Given the description of an element on the screen output the (x, y) to click on. 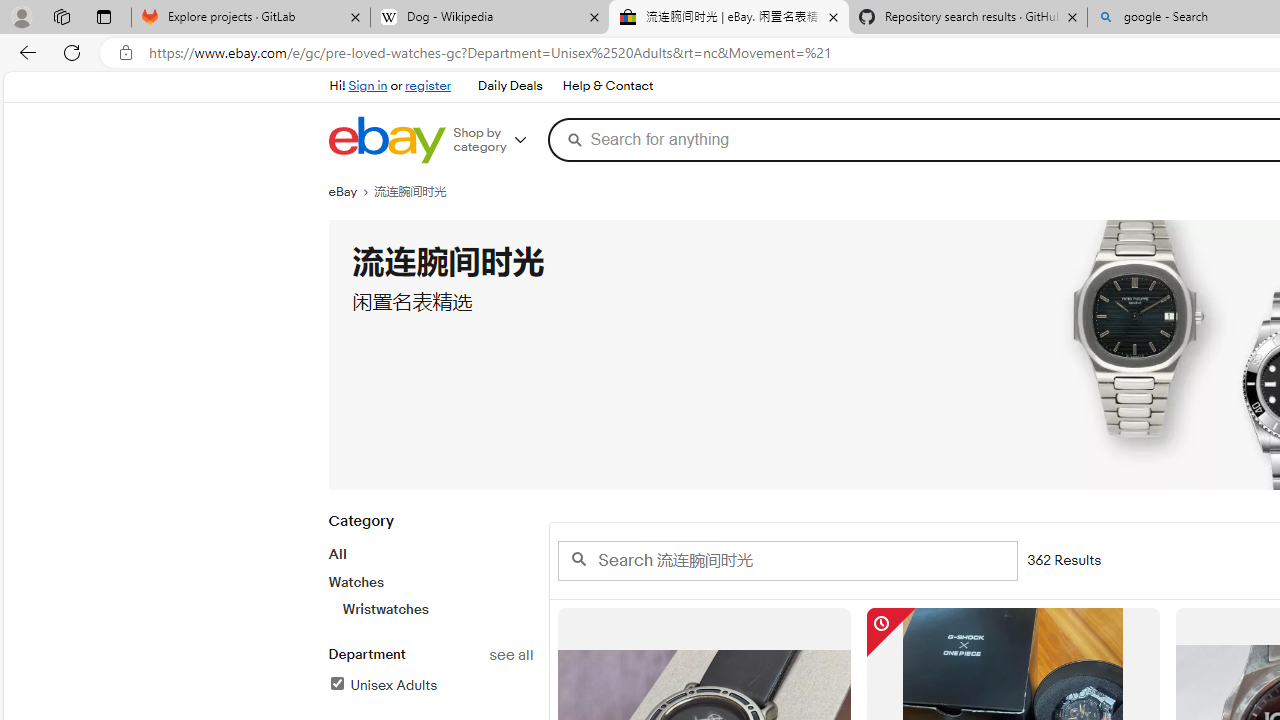
See all department refinements (510, 655)
Unisex AdultsFilter Applied (430, 686)
eBay Home (386, 139)
Help & Contact (607, 86)
Dog - Wikipedia (490, 17)
Wristwatches (437, 609)
eBay (351, 192)
Daily Deals (509, 86)
Enter your search keyword (786, 560)
Shop by category (496, 140)
Departmentsee allUnisex AdultsFilter Applied (430, 681)
